Given the description of an element on the screen output the (x, y) to click on. 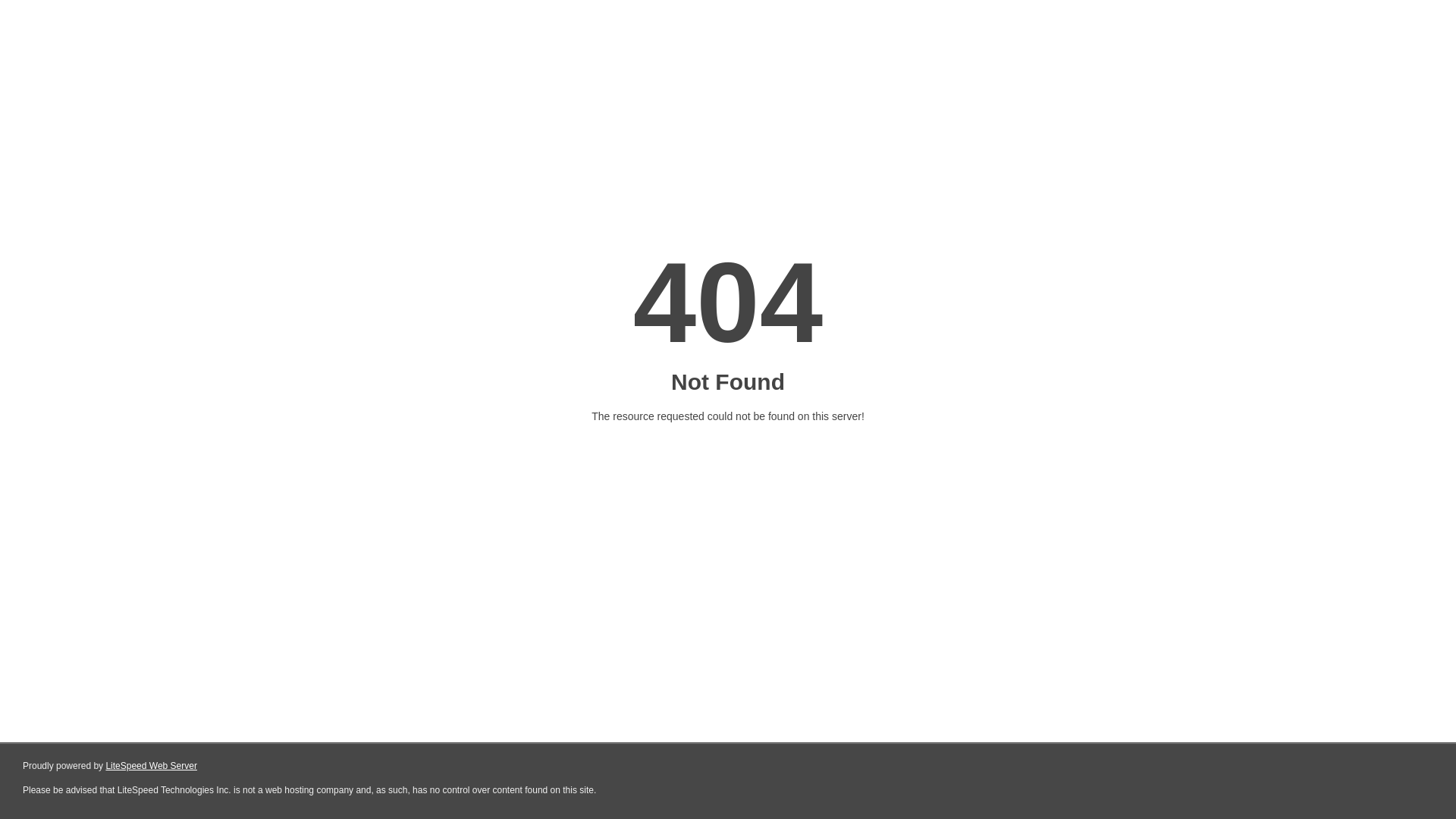
LiteSpeed Web Server Element type: text (151, 765)
